Given the description of an element on the screen output the (x, y) to click on. 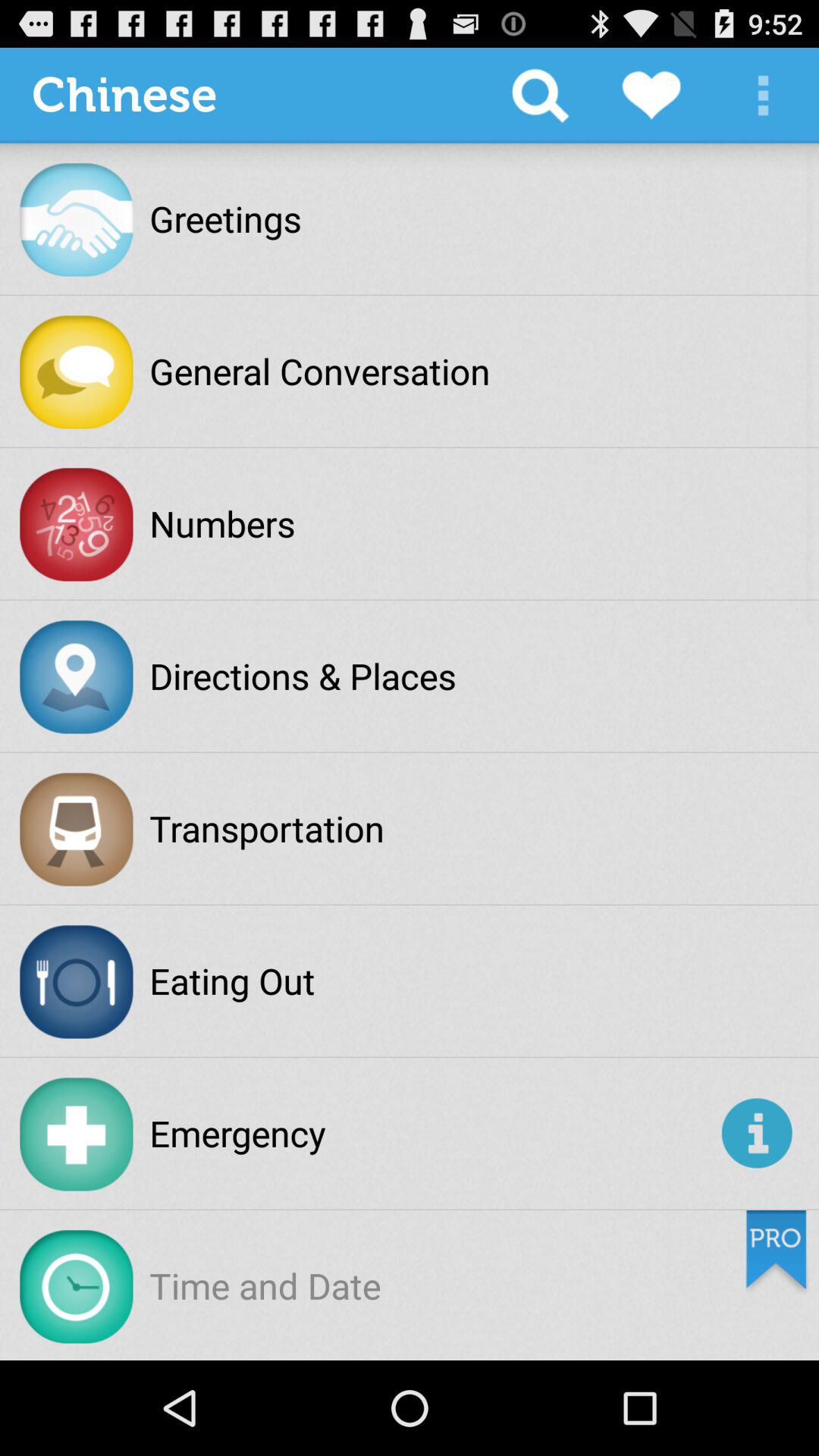
swipe until greetings icon (225, 218)
